Given the description of an element on the screen output the (x, y) to click on. 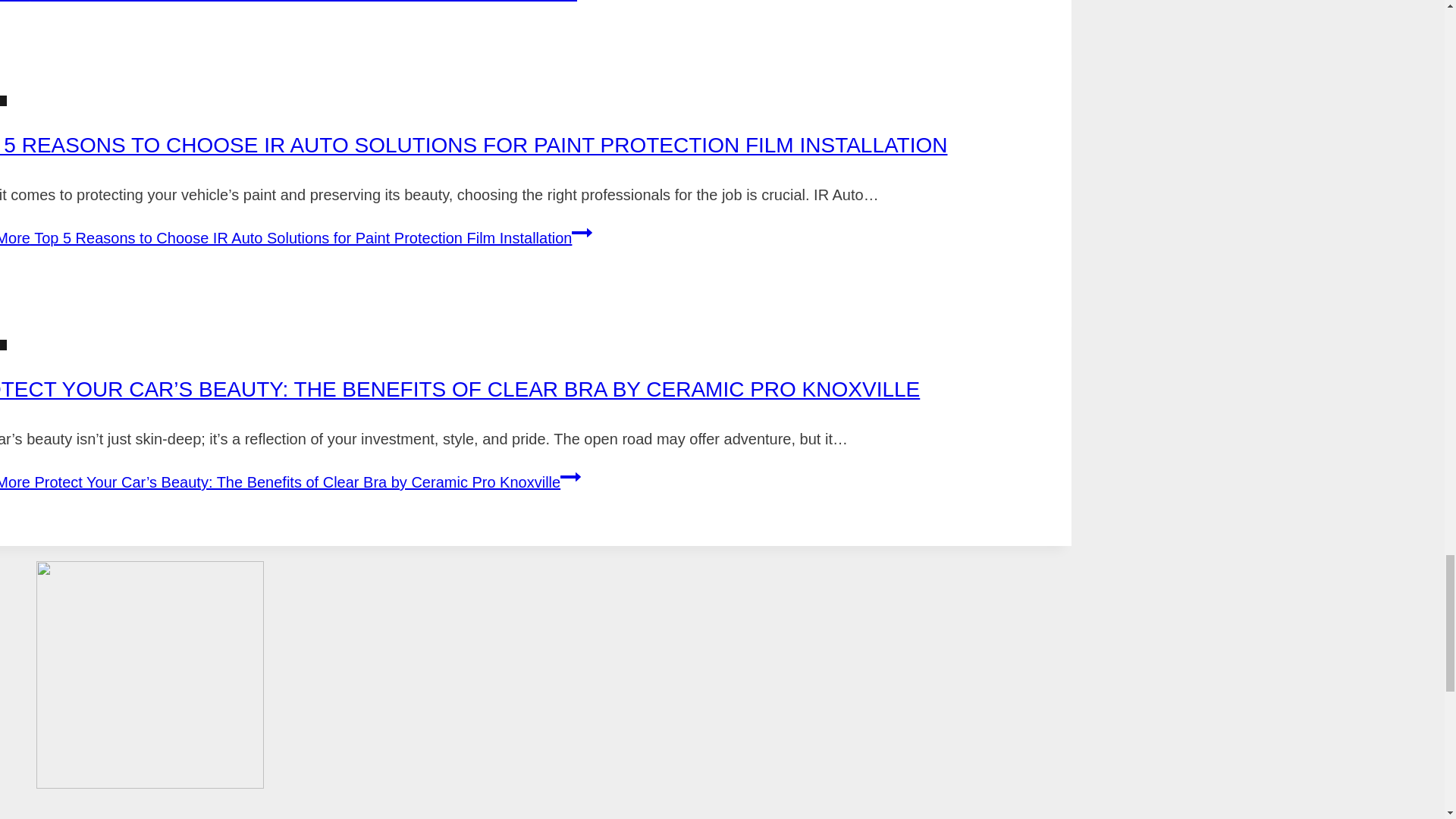
Continue (582, 232)
Continue (570, 476)
